Given the description of an element on the screen output the (x, y) to click on. 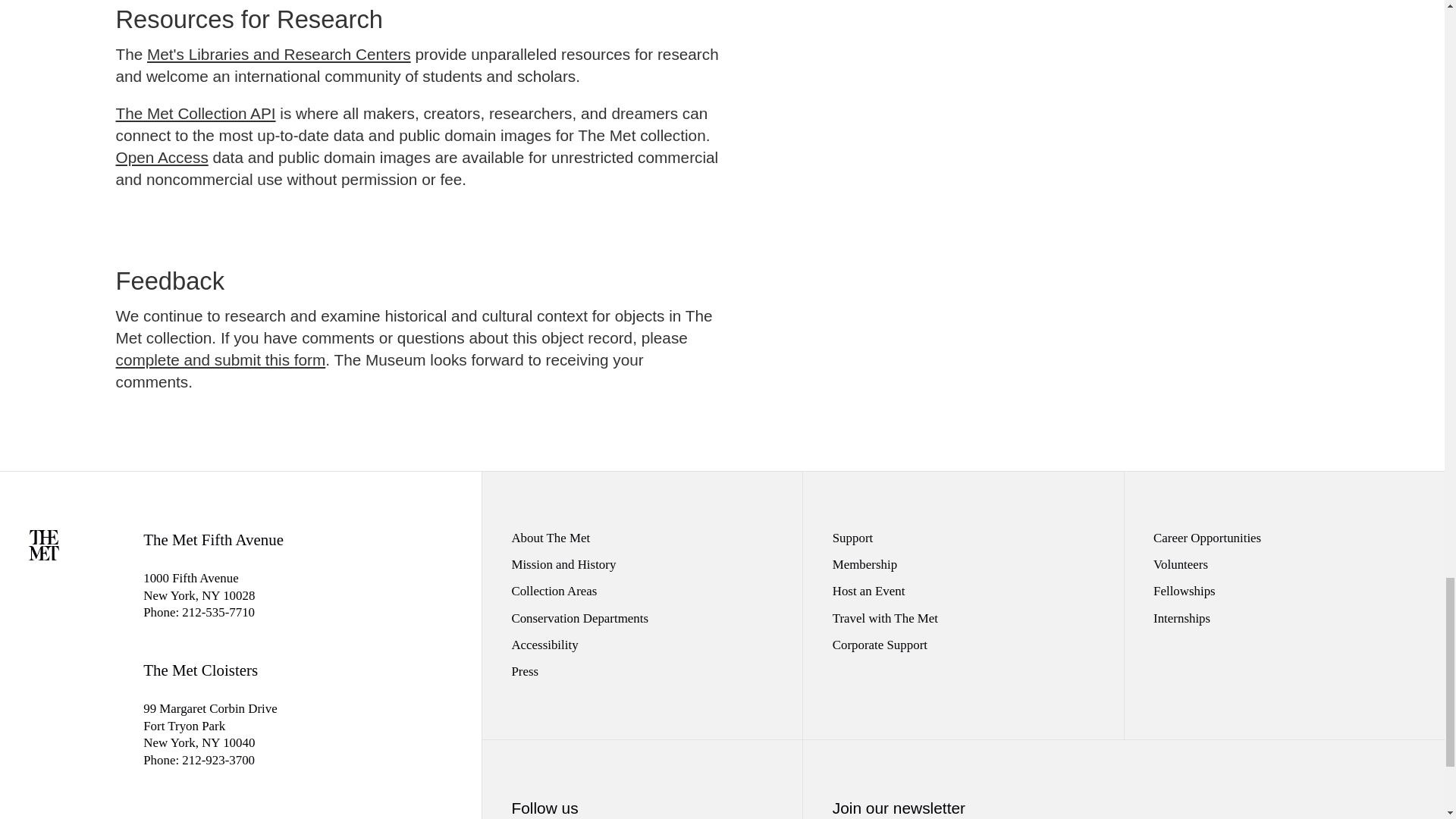
Homepage (44, 555)
